Given the description of an element on the screen output the (x, y) to click on. 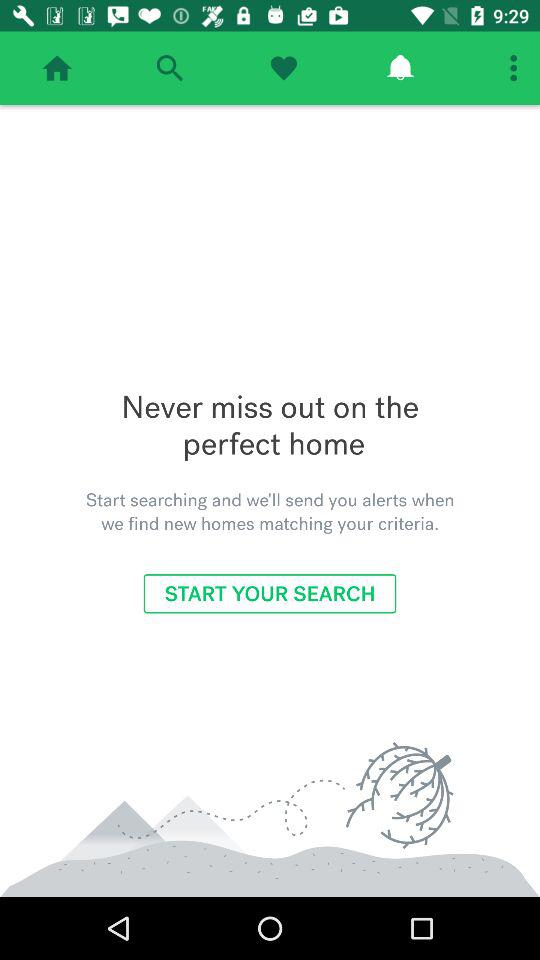
add to favorites (283, 68)
